Given the description of an element on the screen output the (x, y) to click on. 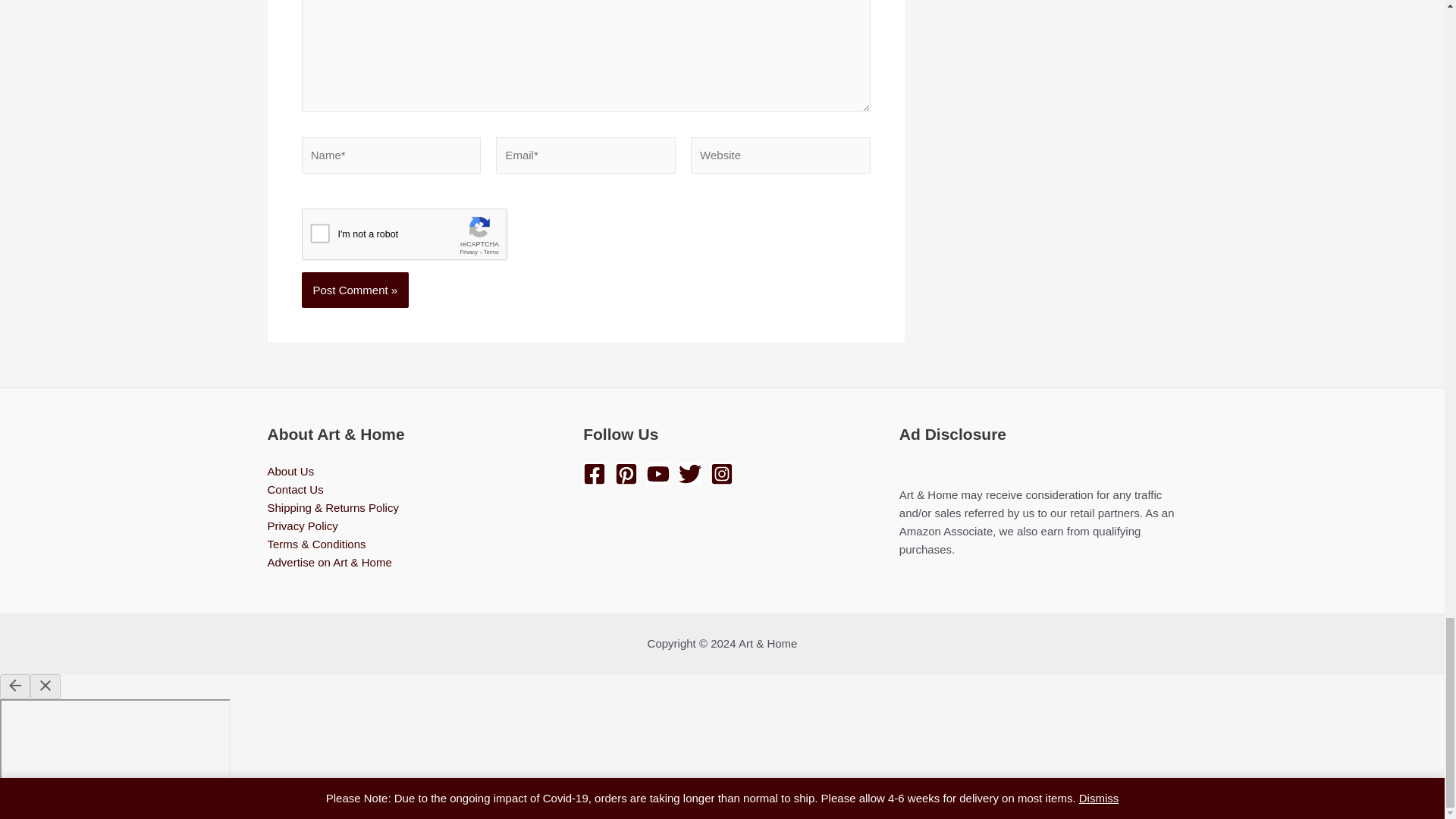
reCAPTCHA (416, 237)
